Given the description of an element on the screen output the (x, y) to click on. 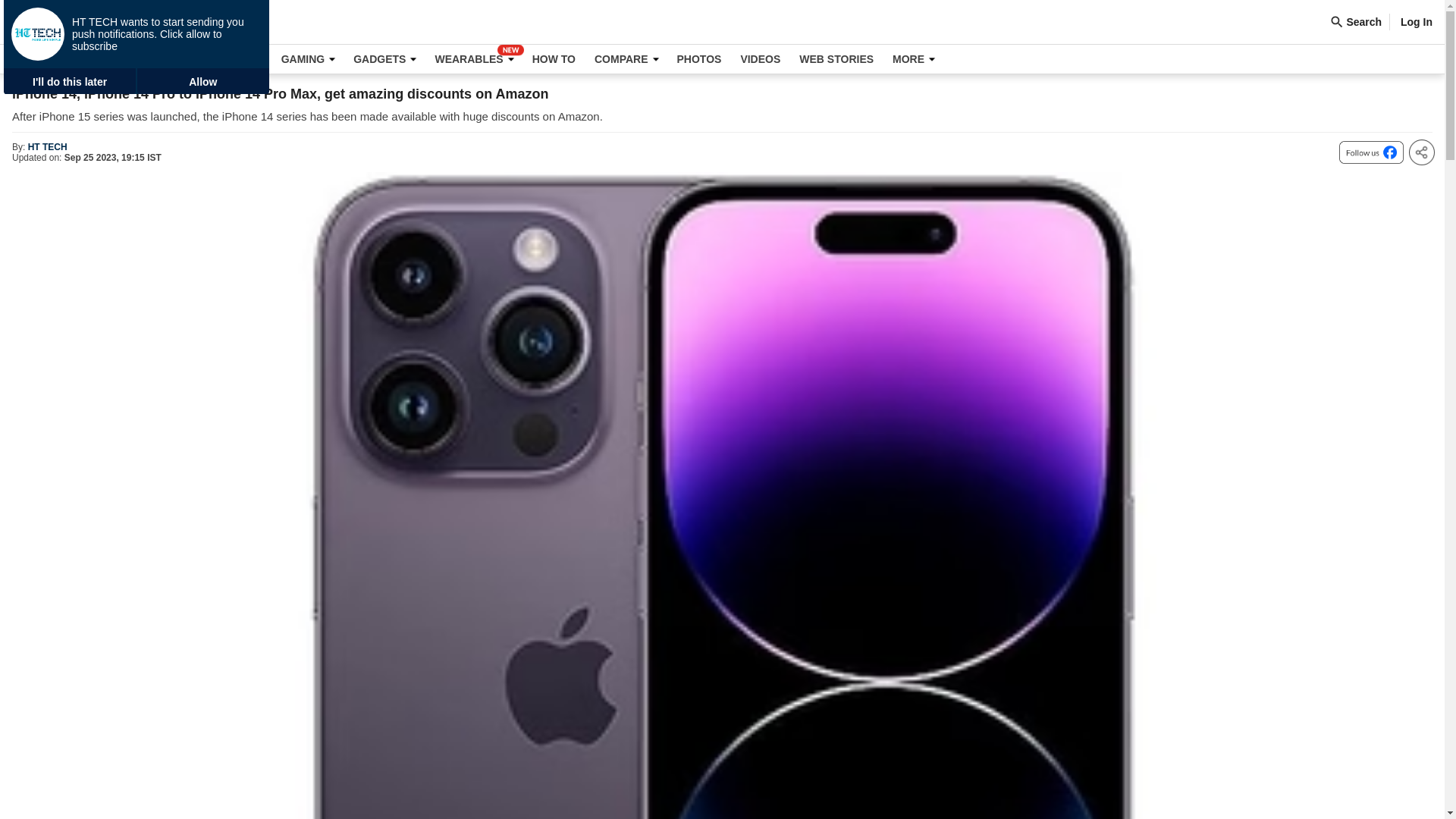
GADGETS (383, 59)
MOBILE (139, 59)
WEARABLES (473, 59)
NEWS (79, 59)
HOME (28, 59)
Search (1359, 21)
Get to know more about News from India and around the world. (79, 59)
GAMING (308, 59)
Log In (1416, 21)
COMPARE (626, 59)
HOW TO (553, 59)
LAPTOPS PC (222, 59)
